Given the description of an element on the screen output the (x, y) to click on. 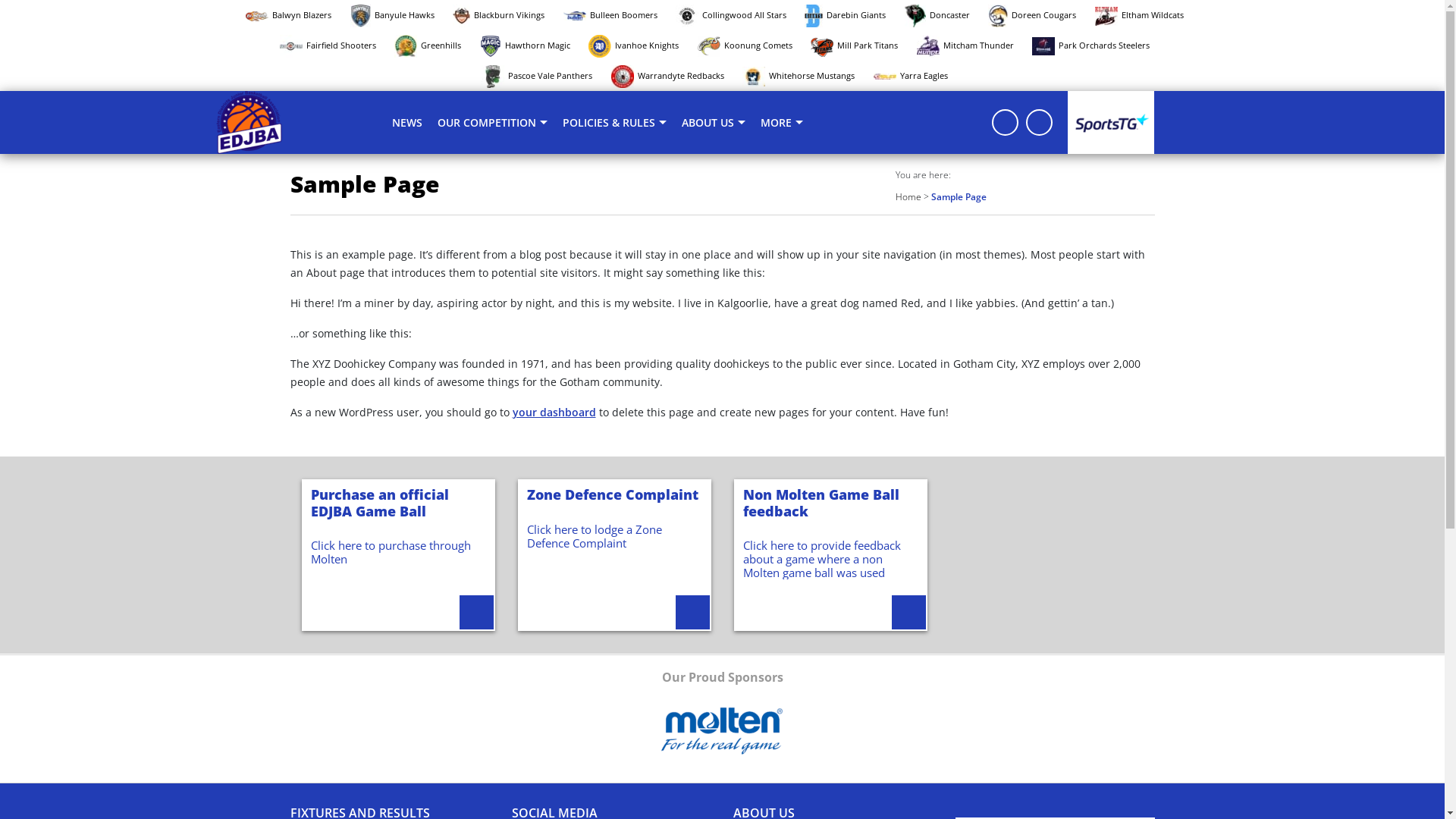
Collingwood All Stars Element type: text (738, 14)
NEWS Element type: text (406, 122)
ABOUT US Element type: text (713, 122)
Doncaster Element type: text (944, 14)
Park Orchards Steelers Element type: text (1098, 44)
Whitehorse Mustangs Element type: text (805, 75)
Ivanhoe Knights Element type: text (640, 44)
OUR COMPETITION Element type: text (492, 122)
your dashboard Element type: text (554, 411)
Mill Park Titans Element type: text (861, 44)
MORE Element type: text (781, 122)
Bulleen Boomers Element type: text (617, 14)
Hawthorn Magic Element type: text (532, 44)
Doreen Cougars Element type: text (1039, 14)
Koonung Comets Element type: text (752, 44)
Banyule Hawks Element type: text (399, 14)
Greenhills Element type: text (435, 44)
Home Element type: text (907, 196)
Warrandyte Redbacks Element type: text (675, 75)
Yarra Eagles Element type: text (918, 75)
Balwyn Blazers Element type: text (295, 14)
Fairfield Shooters Element type: text (335, 44)
Mitcham Thunder Element type: text (972, 44)
Eltham Wildcats Element type: text (1146, 14)
POLICIES & RULES Element type: text (614, 122)
Pascoe Vale Panthers Element type: text (544, 75)
Darebin Giants Element type: text (852, 14)
Blackburn Vikings Element type: text (505, 14)
